Given the description of an element on the screen output the (x, y) to click on. 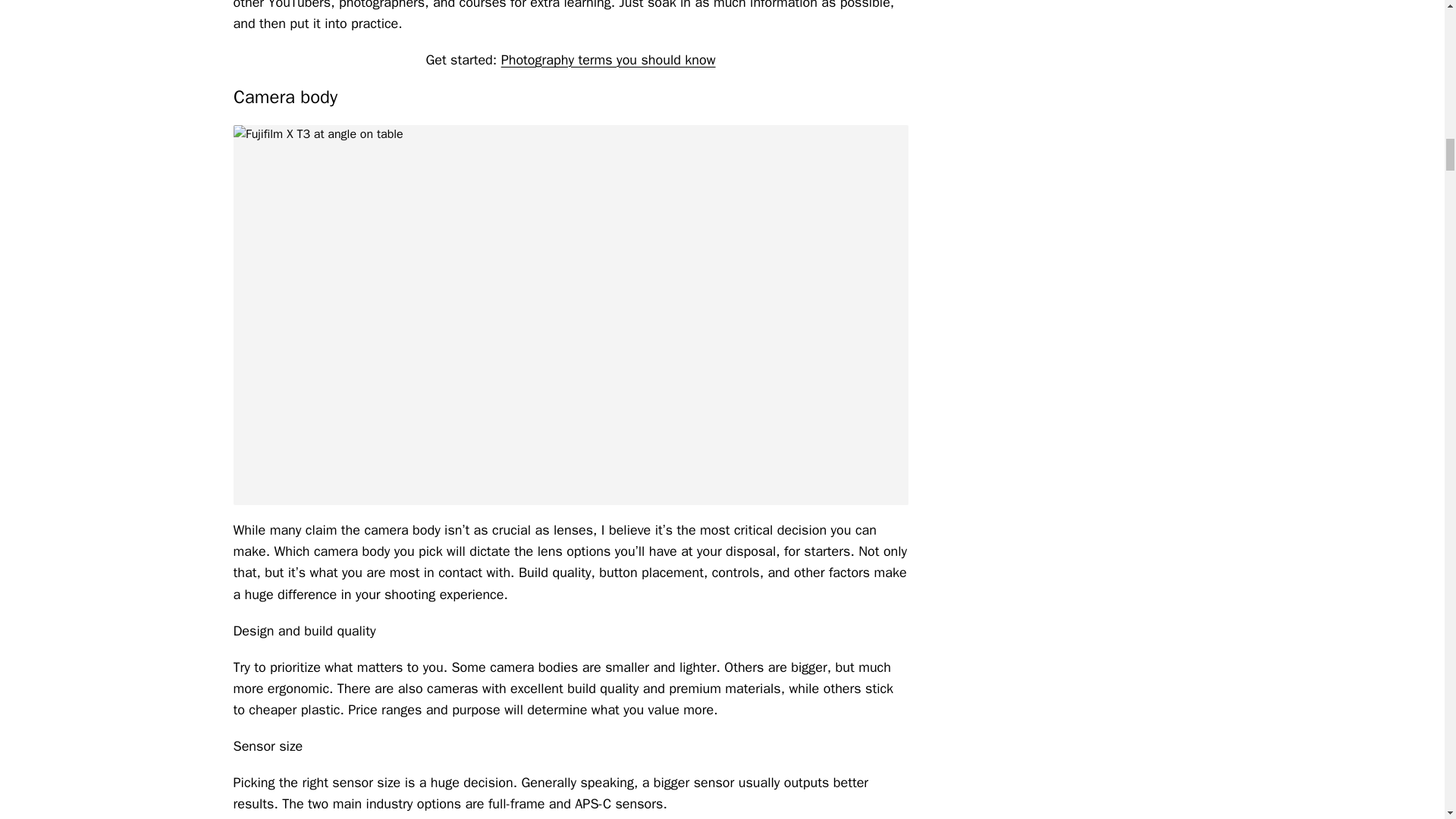
Photography terms you should know (608, 59)
